Given the description of an element on the screen output the (x, y) to click on. 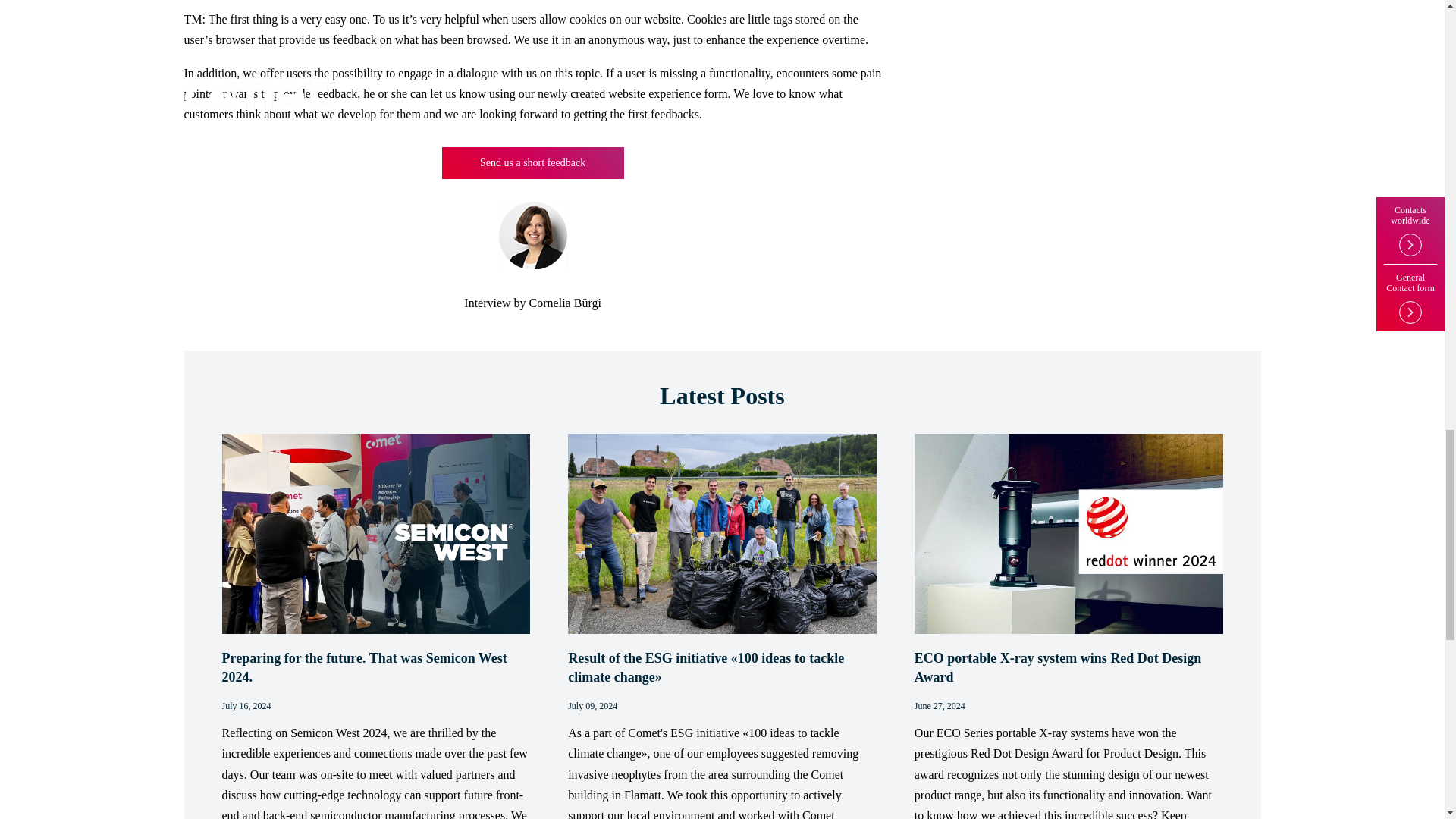
ECO portable X-ray system wins Red Dot Design Award (1068, 668)
Send us a short feedback (533, 163)
website experience form (667, 92)
Preparing for the future. That was Semicon West 2024. (375, 668)
